Given the description of an element on the screen output the (x, y) to click on. 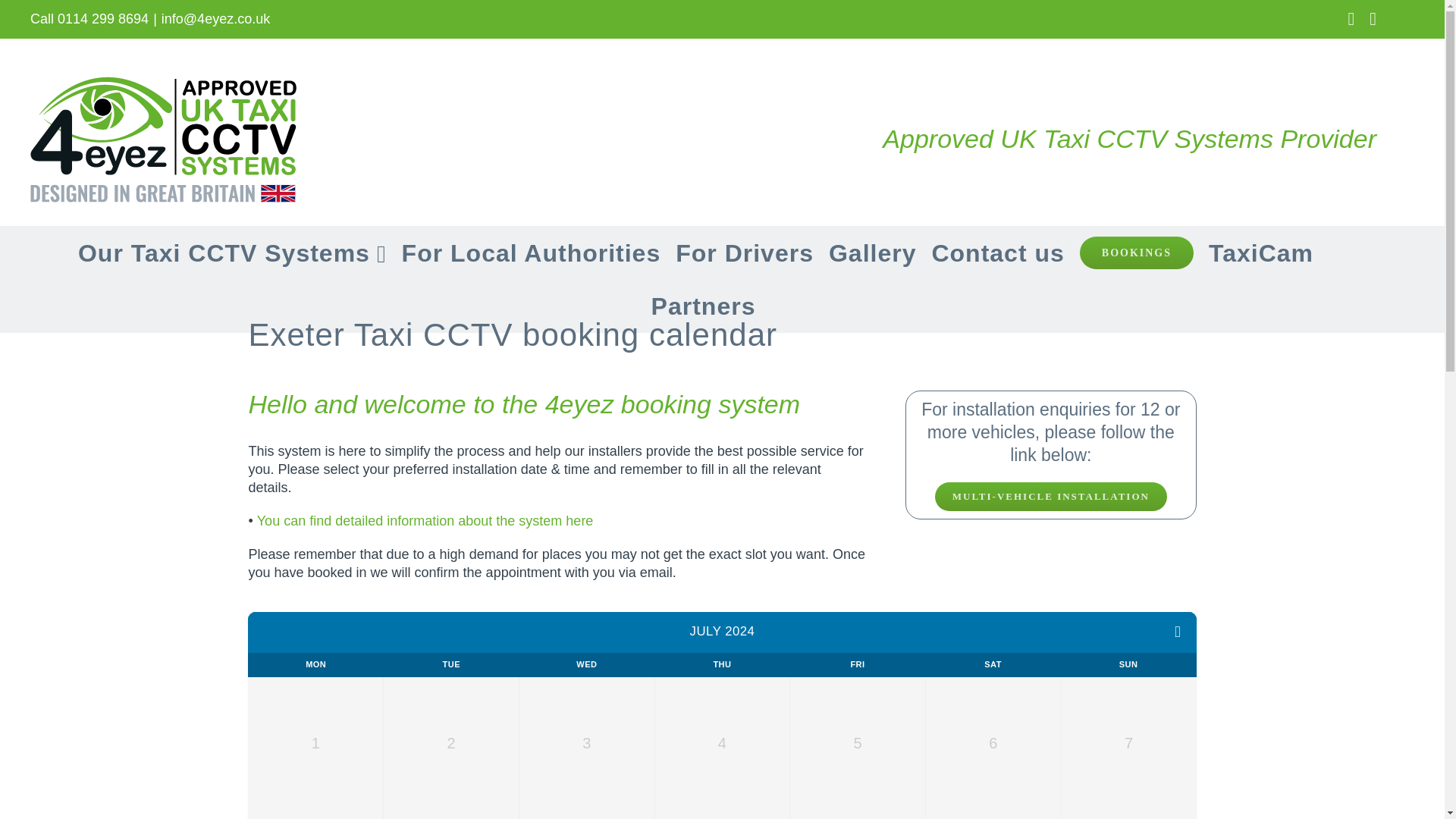
X (1372, 18)
Gallery (872, 252)
You can find detailed information about the system here (425, 520)
TaxiCam (1260, 252)
Partners (702, 305)
Facebook (1351, 18)
For Local Authorities (531, 252)
Contact us (997, 252)
For Drivers (744, 252)
Our Taxi CCTV Systems (232, 252)
MULTI-VEHICLE INSTALLATION (1050, 496)
BOOKINGS (1136, 252)
